Given the description of an element on the screen output the (x, y) to click on. 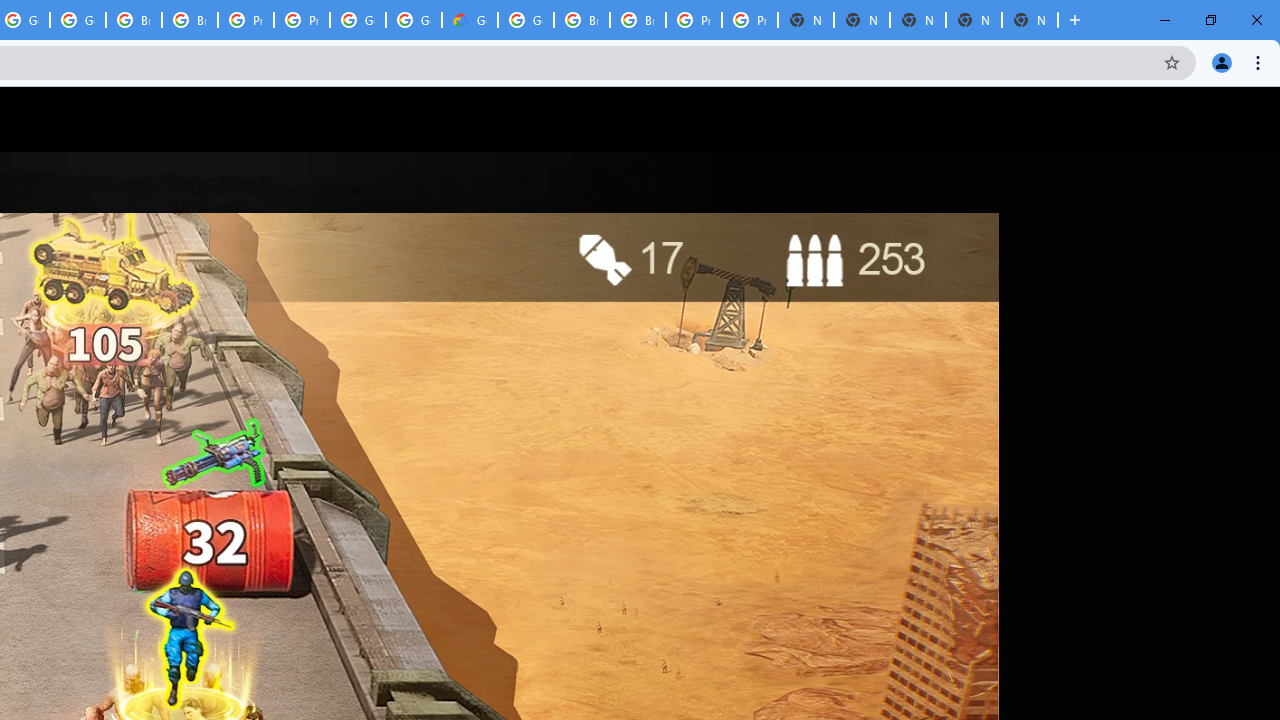
Browse Chrome as a guest - Computer - Google Chrome Help (134, 20)
Browse Chrome as a guest - Computer - Google Chrome Help (582, 20)
Open account menu (1245, 119)
New Tab (1030, 20)
